Given the description of an element on the screen output the (x, y) to click on. 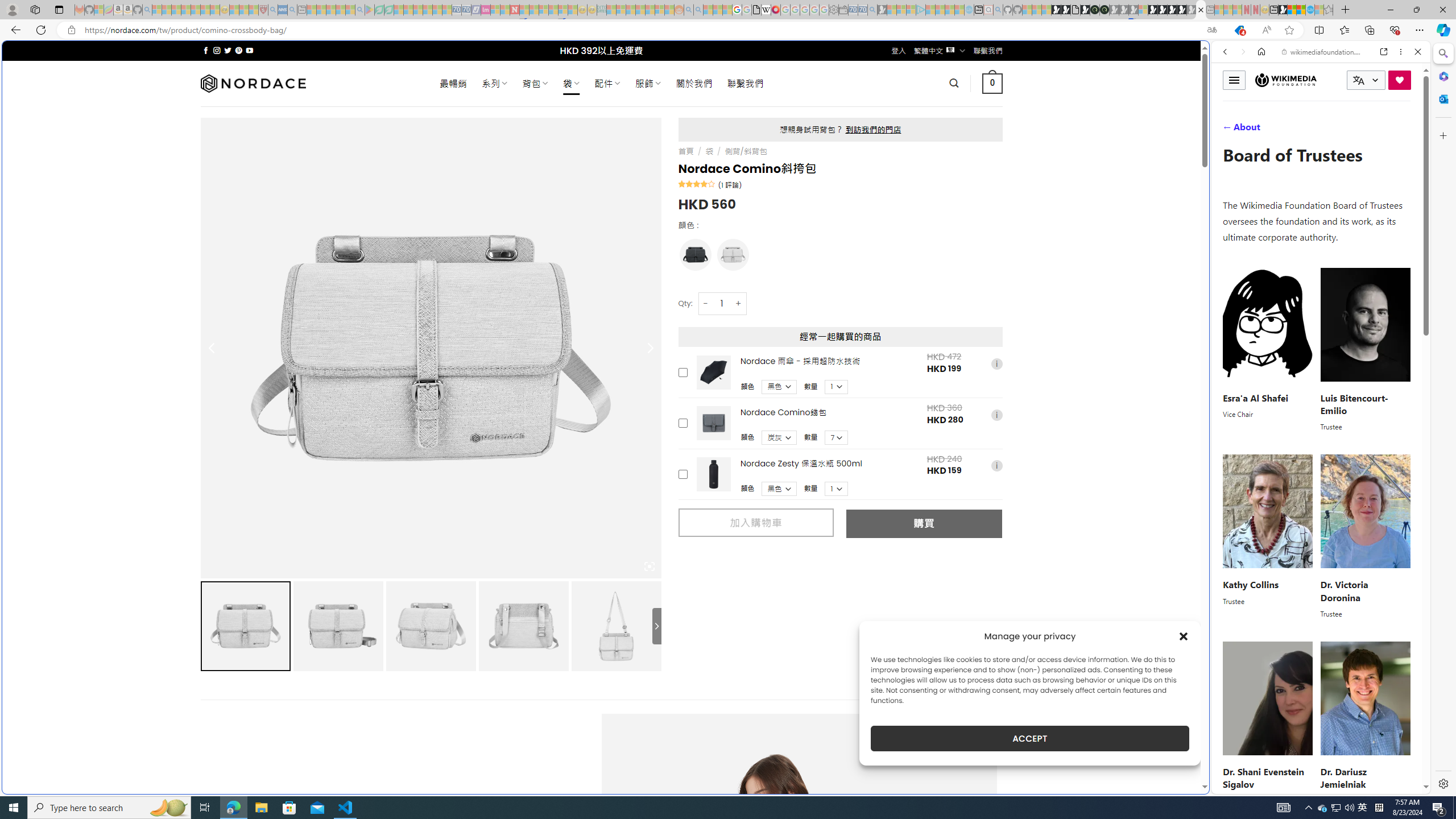
 0  (992, 83)
CURRENT LANGUAGE: (1366, 80)
